Given the description of an element on the screen output the (x, y) to click on. 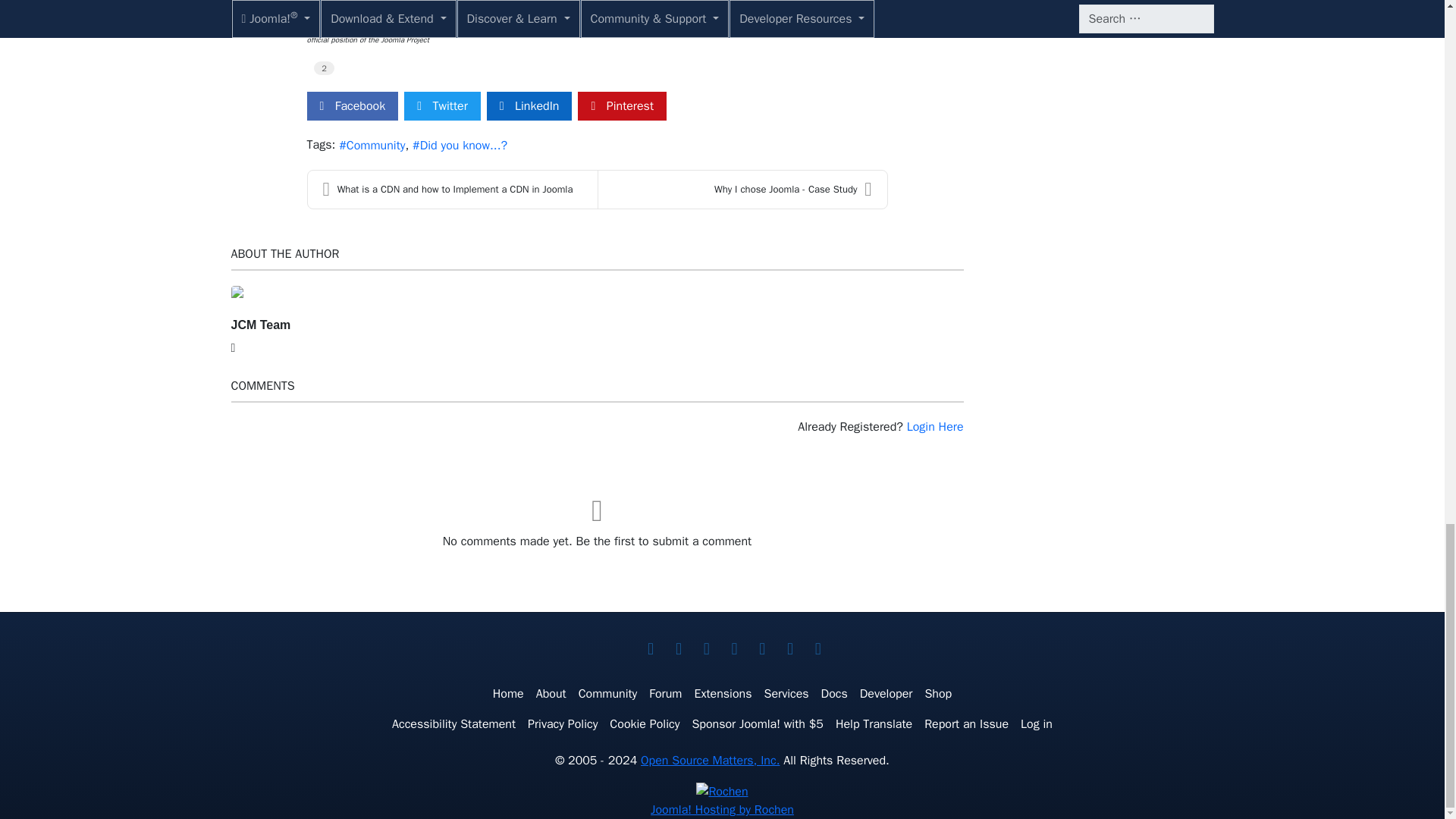
Joomla! on YouTube (706, 648)
Joomla! on Twitter (650, 648)
Joomla! on Pinterest (761, 648)
Joomla! on Facebook (678, 648)
Joomla! on LinkedIn (733, 648)
2 votes (324, 68)
Joomla! on Instagram (789, 648)
